Given the description of an element on the screen output the (x, y) to click on. 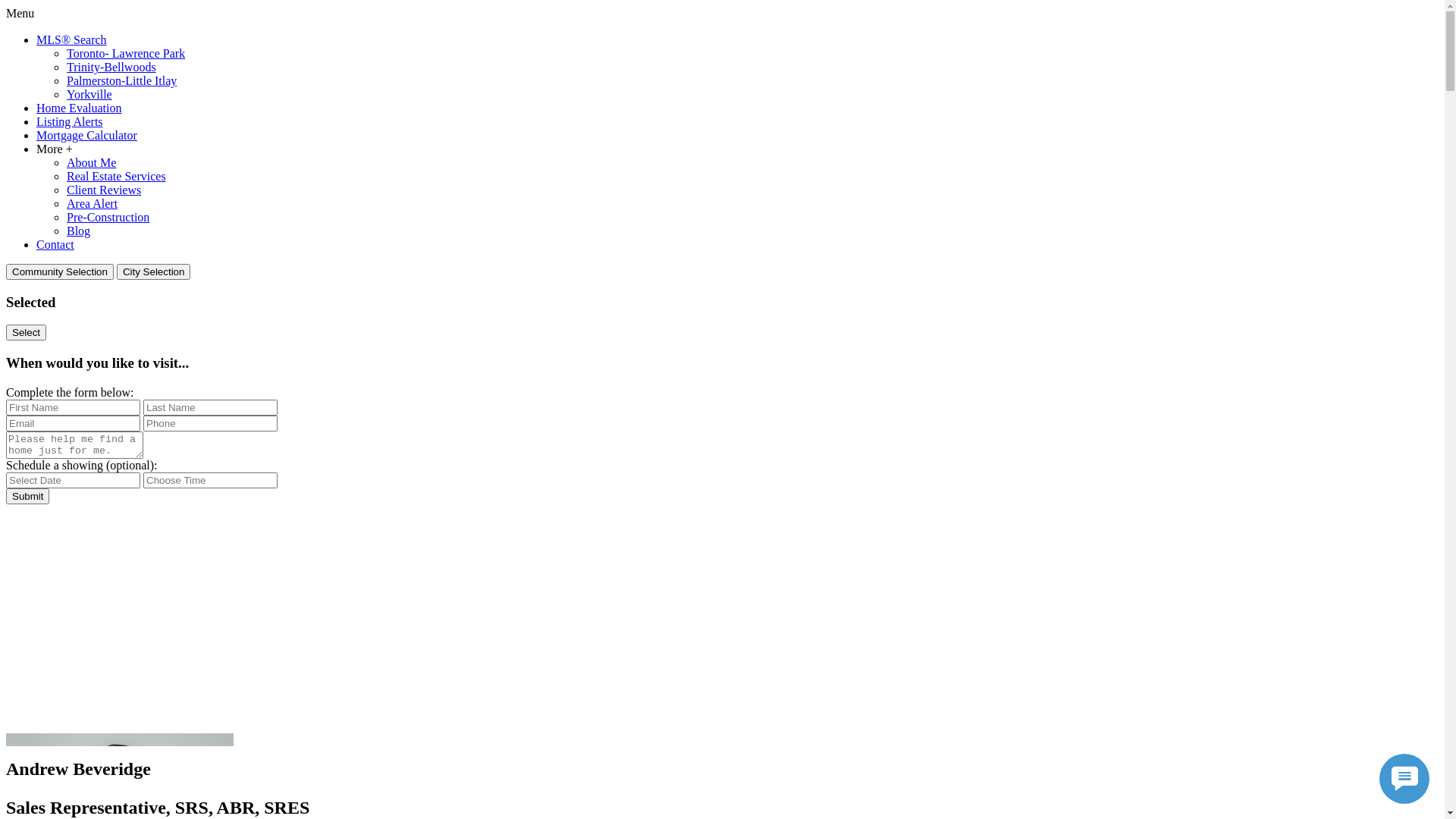
Contact Element type: text (55, 244)
Blog Element type: text (78, 230)
Palmerston-Little Itlay Element type: text (121, 80)
About Me Element type: text (91, 162)
More + Element type: text (54, 148)
Real Estate Services Element type: text (116, 175)
Submit Element type: text (27, 496)
Toronto- Lawrence Park Element type: text (125, 53)
Area Alert Element type: text (91, 203)
Pre-Construction Element type: text (107, 216)
Community Selection Element type: text (59, 271)
City Selection Element type: text (153, 271)
Live Chat Element type: hover (1404, 778)
Mortgage Calculator Element type: text (86, 134)
Yorkville Element type: text (89, 93)
Select Element type: text (26, 332)
Home Evaluation Element type: text (78, 107)
Trinity-Bellwoods Element type: text (111, 66)
Client Reviews Element type: text (103, 189)
Listing Alerts Element type: text (69, 121)
